Given the description of an element on the screen output the (x, y) to click on. 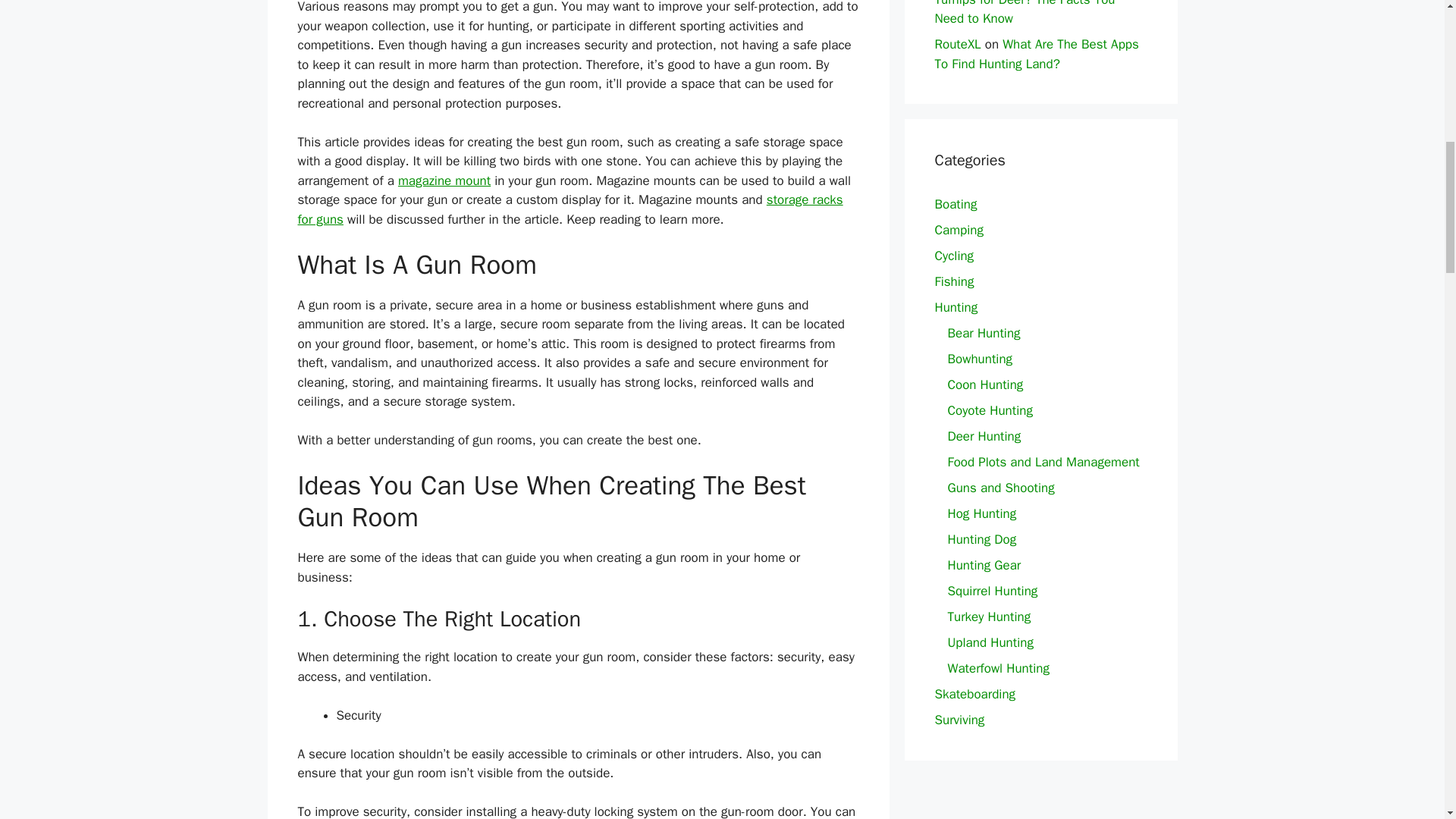
Scroll back to top (1406, 720)
magazine mount (443, 180)
storage racks for guns (570, 209)
